Given the description of an element on the screen output the (x, y) to click on. 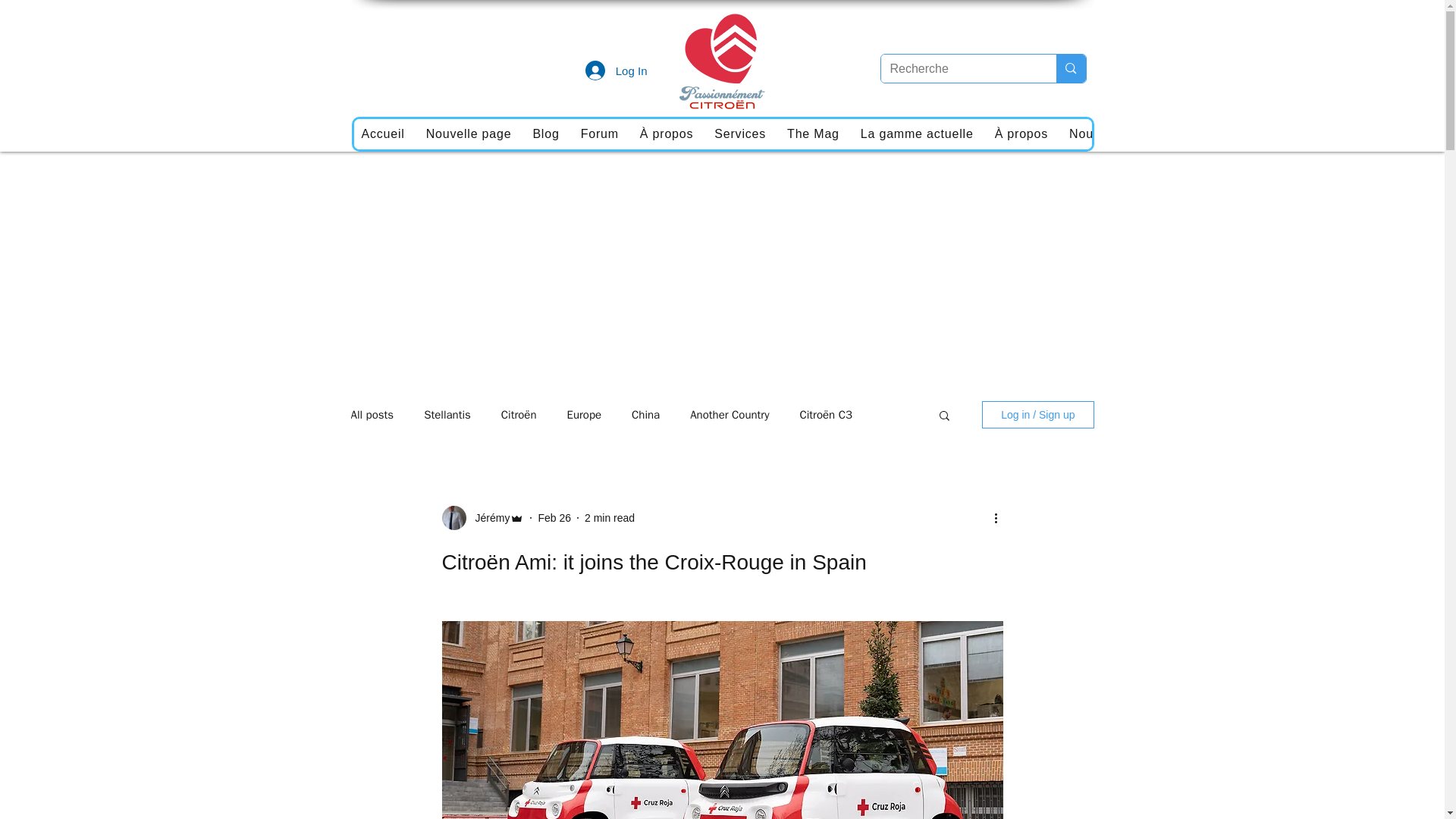
2 min read (609, 517)
The Mag (812, 133)
Services (739, 133)
Nouvelle page (469, 133)
La gamme actuelle (917, 133)
02-Logo Passionnement CITROEN SITE WEB.p (721, 58)
Europe (584, 414)
Blog (545, 133)
Contact (1331, 133)
Stellantis (446, 414)
